Given the description of an element on the screen output the (x, y) to click on. 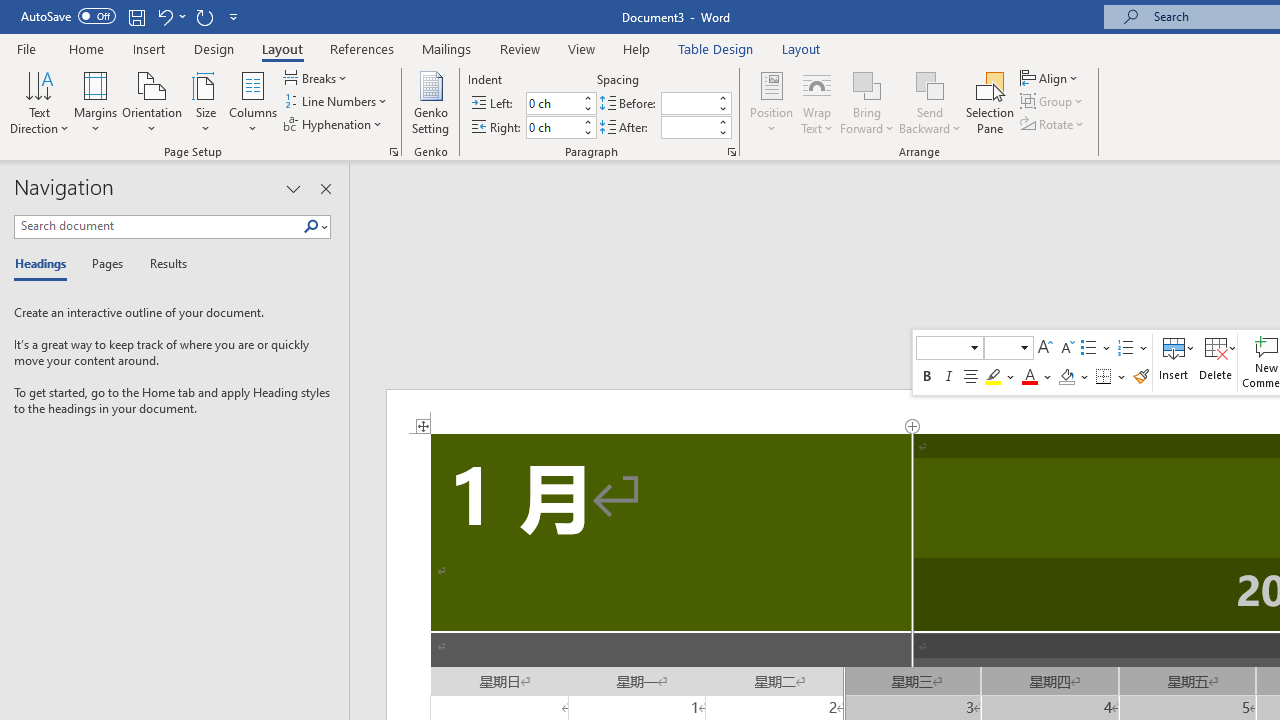
Indent Left (552, 103)
Spacing Before (687, 103)
Margins (95, 102)
Bring Forward (867, 102)
Selection Pane... (990, 102)
Size (205, 102)
Indent Right (552, 127)
Columns (253, 102)
Send Backward (930, 84)
Class: NetUITextbox (1000, 347)
